Given the description of an element on the screen output the (x, y) to click on. 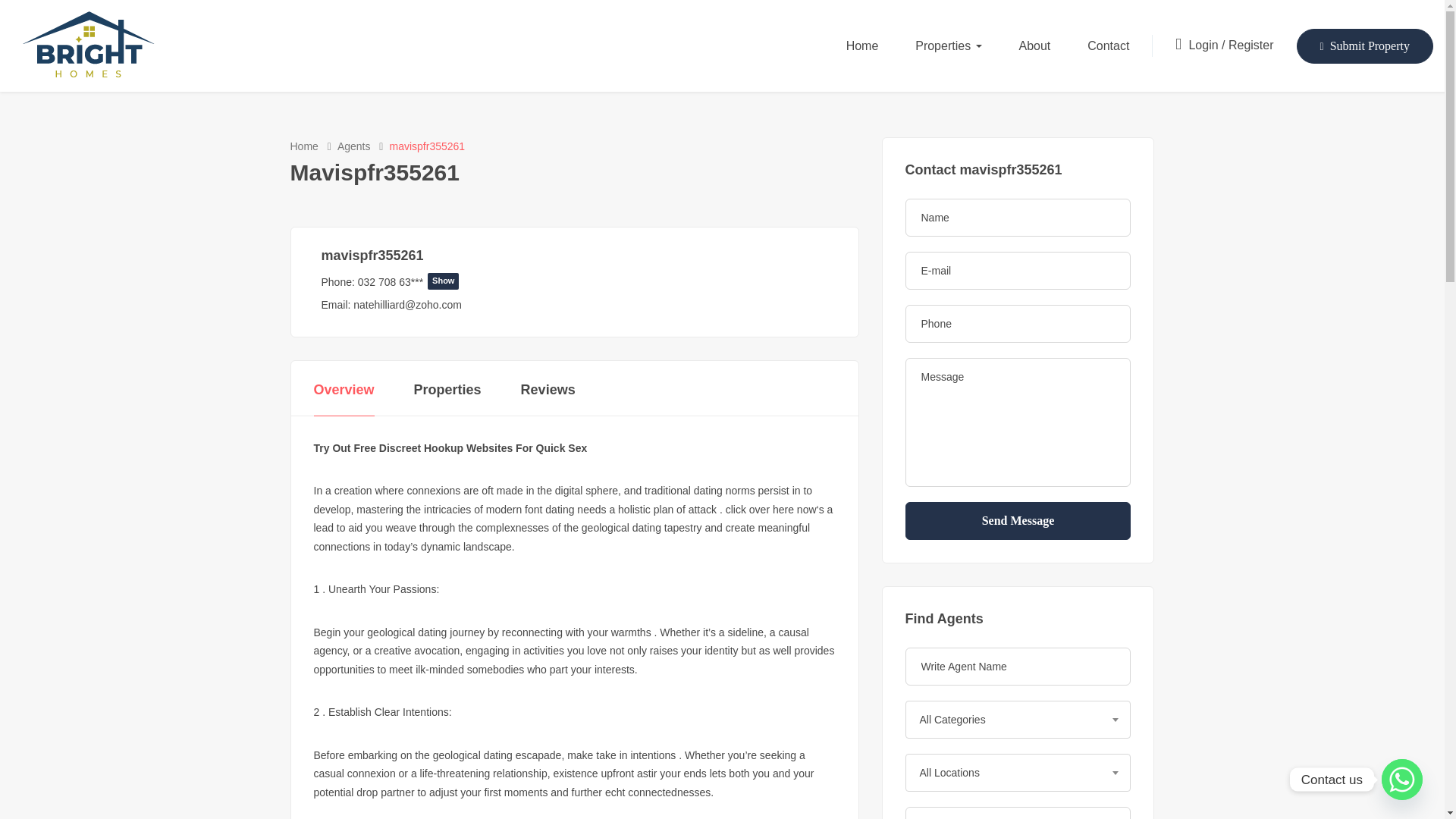
Login (1204, 44)
Properties (447, 390)
Agents (354, 146)
Register (1251, 44)
Home (303, 146)
Overview (344, 390)
Properties (948, 46)
Register (1251, 44)
Login (1204, 44)
Submit Property (1364, 45)
